Given the description of an element on the screen output the (x, y) to click on. 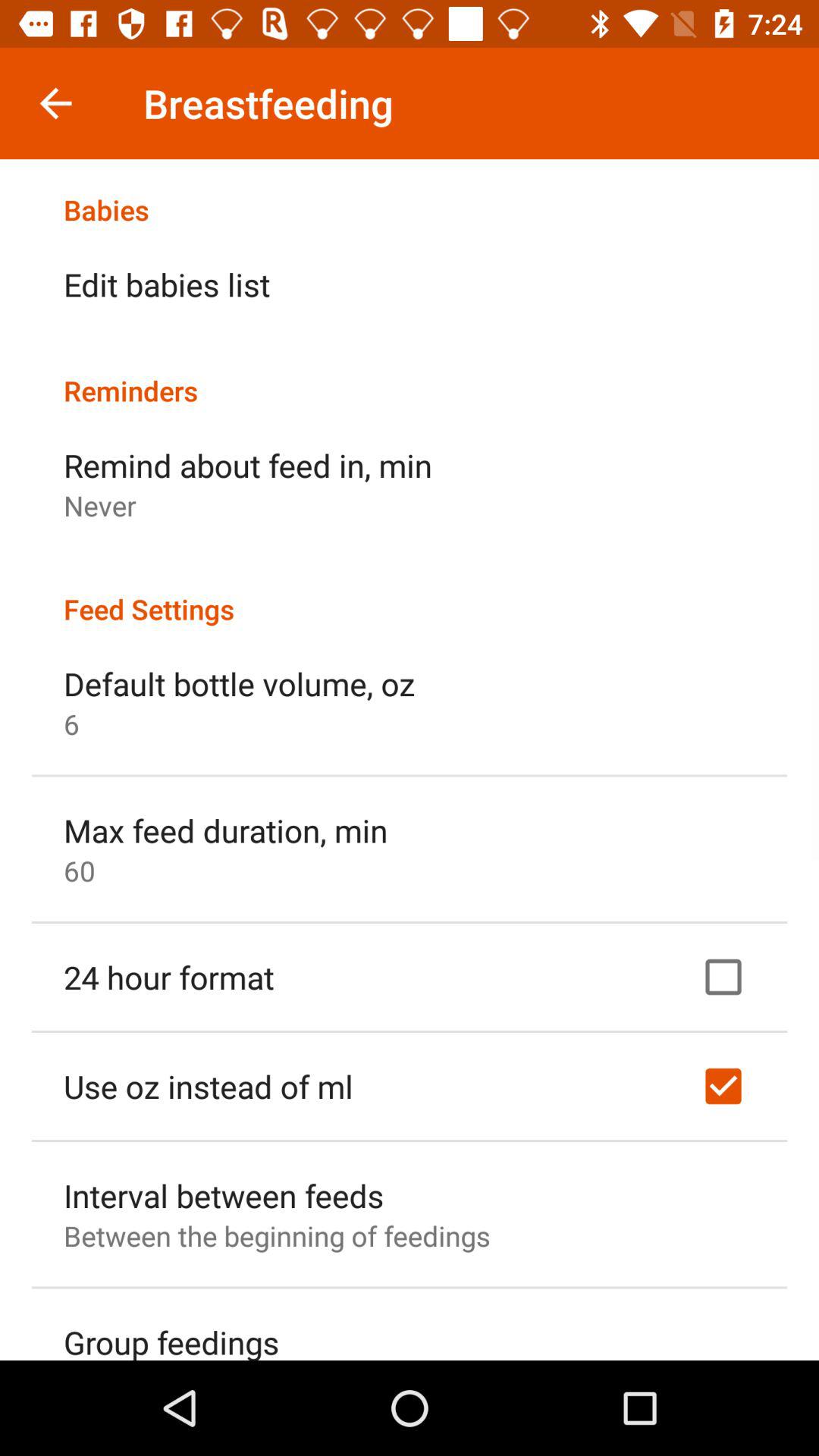
click item below the interval between feeds icon (276, 1235)
